Given the description of an element on the screen output the (x, y) to click on. 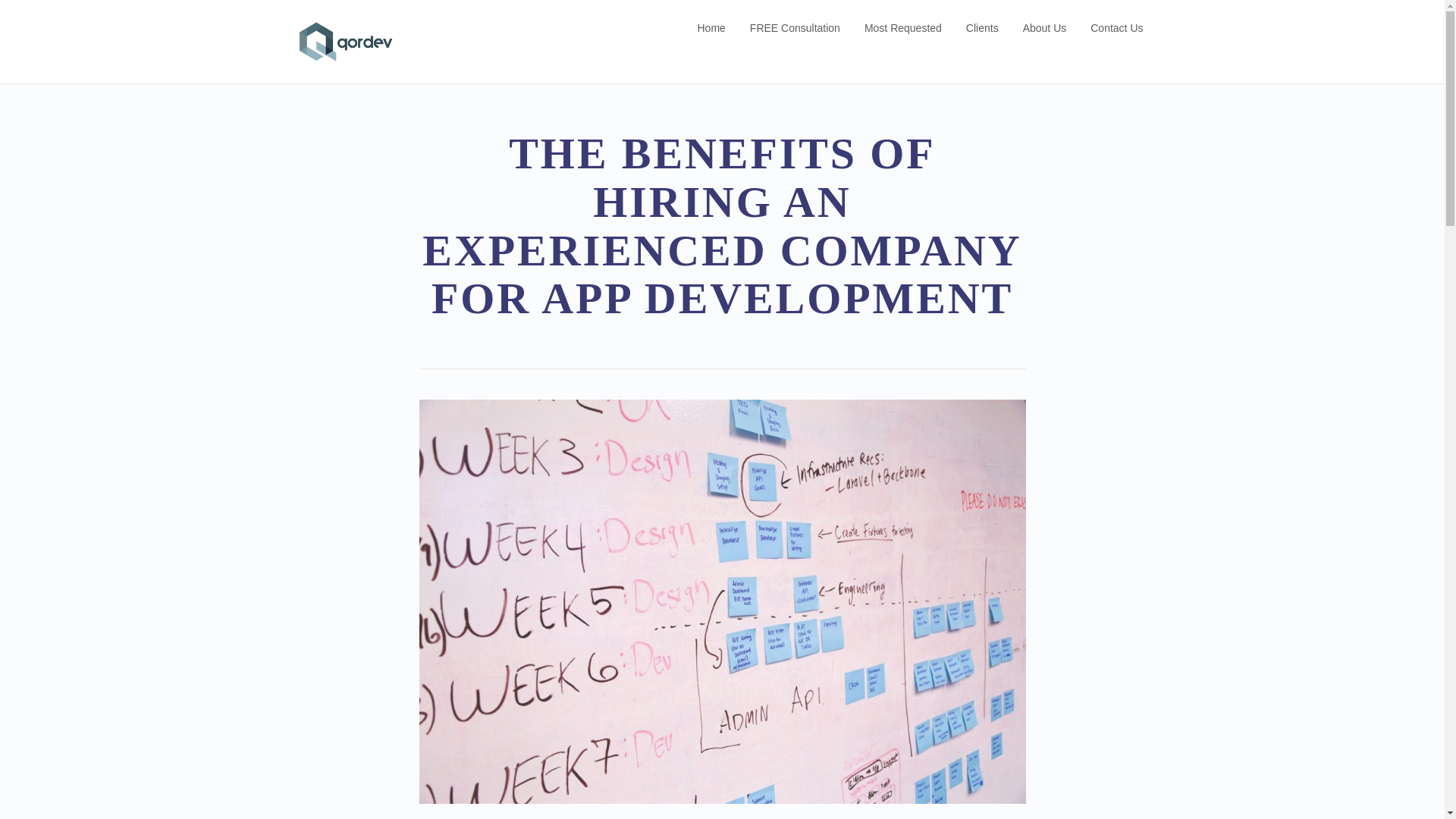
Contact Us (1116, 27)
Most Requested (903, 27)
FREE Consultation (794, 27)
About Us (1045, 27)
